Given the description of an element on the screen output the (x, y) to click on. 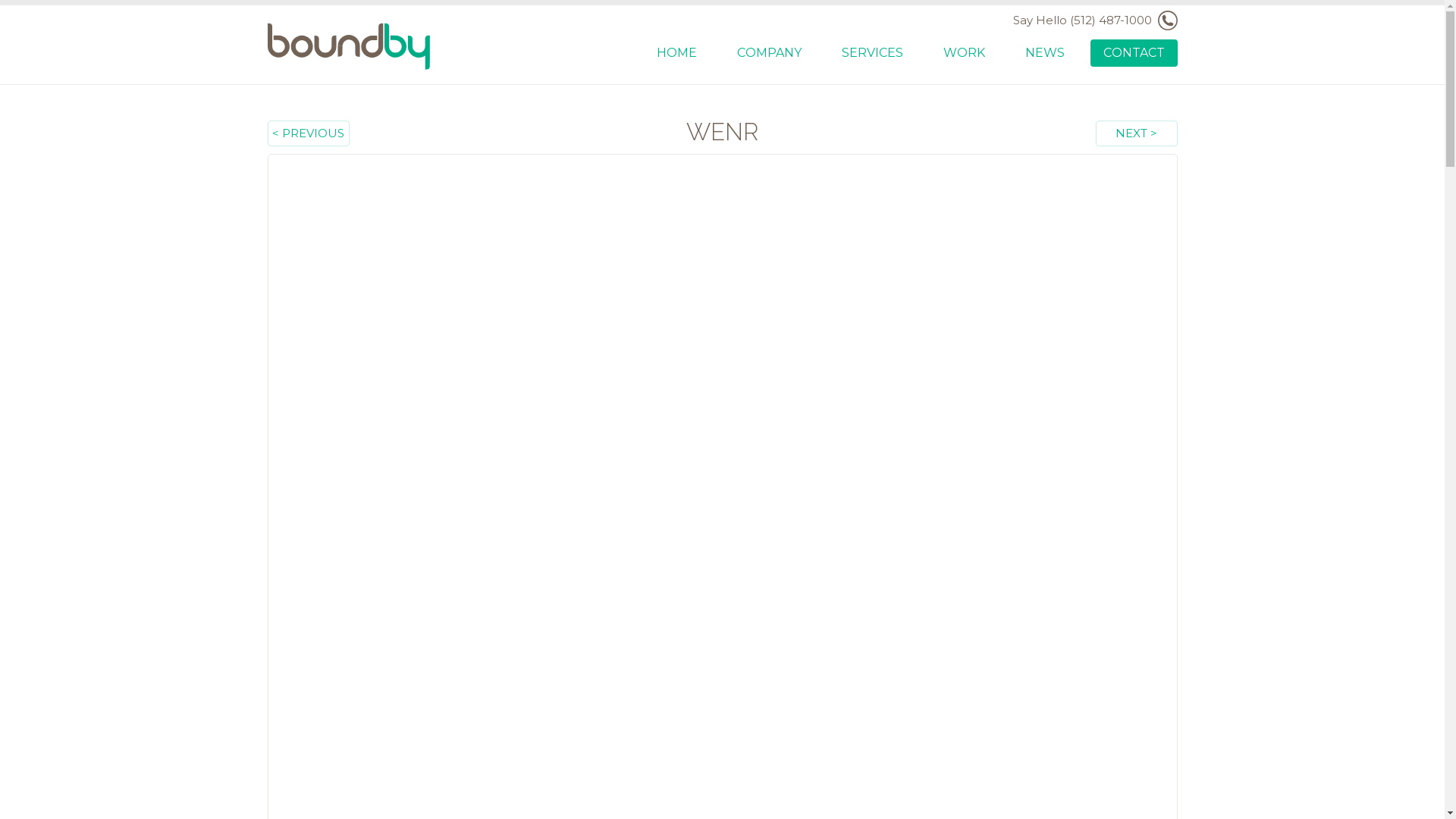
SERVICES Element type: text (872, 52)
< PREVIOUS Element type: text (307, 133)
Bound By Element type: text (349, 45)
HOME Element type: text (676, 52)
WORK Element type: text (964, 52)
NEXT > Element type: text (1135, 133)
COMPANY Element type: text (769, 52)
(512) 487-1000 Element type: text (1122, 20)
CONTACT Element type: text (1133, 52)
NEWS Element type: text (1044, 52)
